Given the description of an element on the screen output the (x, y) to click on. 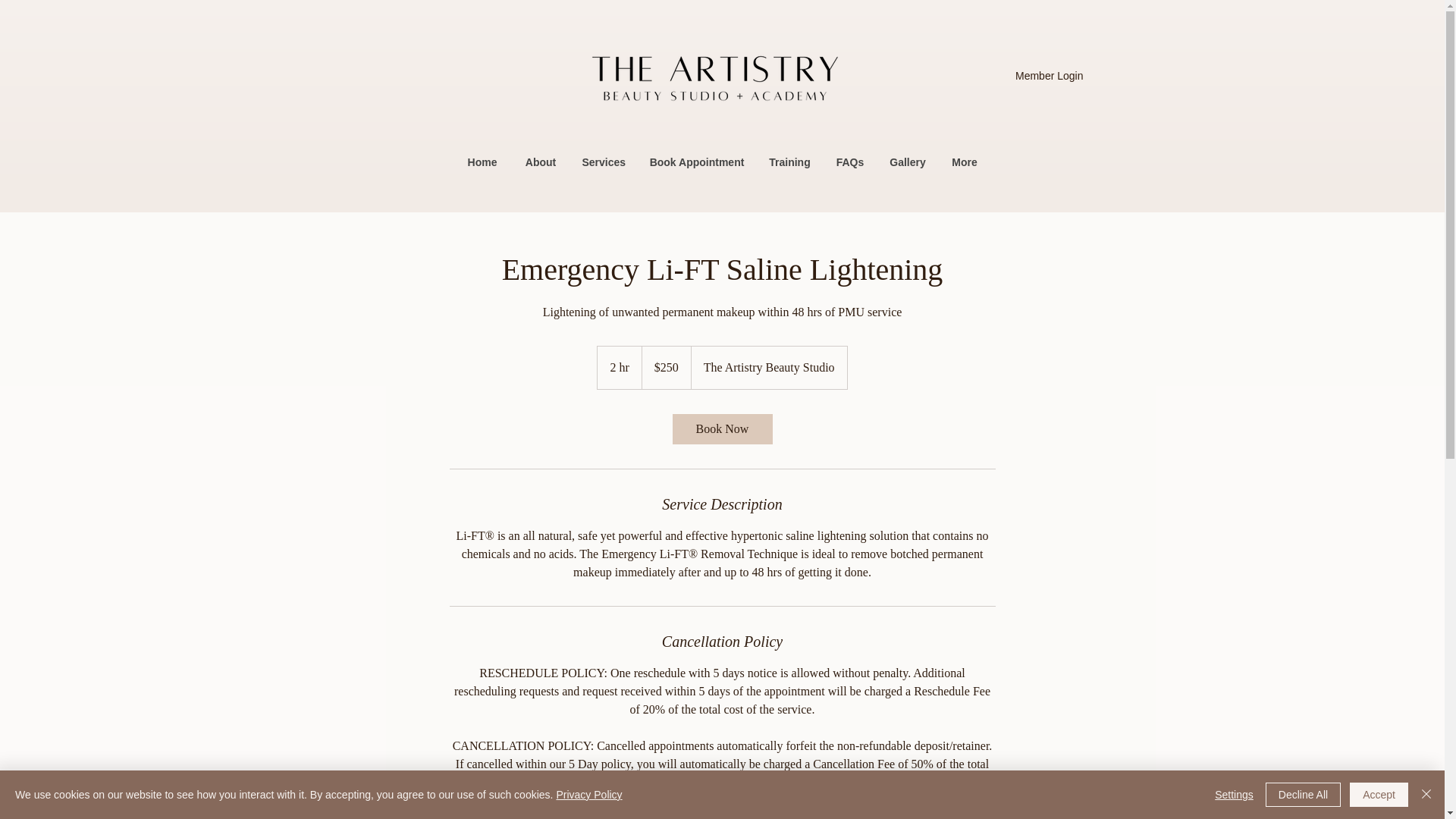
FAQs (849, 161)
Decline All (1302, 794)
Home (481, 161)
Member Login (1049, 76)
Accept (1378, 794)
Book Appointment (697, 161)
About (540, 161)
Training (789, 161)
Services (603, 161)
Privacy Policy (588, 794)
